Given the description of an element on the screen output the (x, y) to click on. 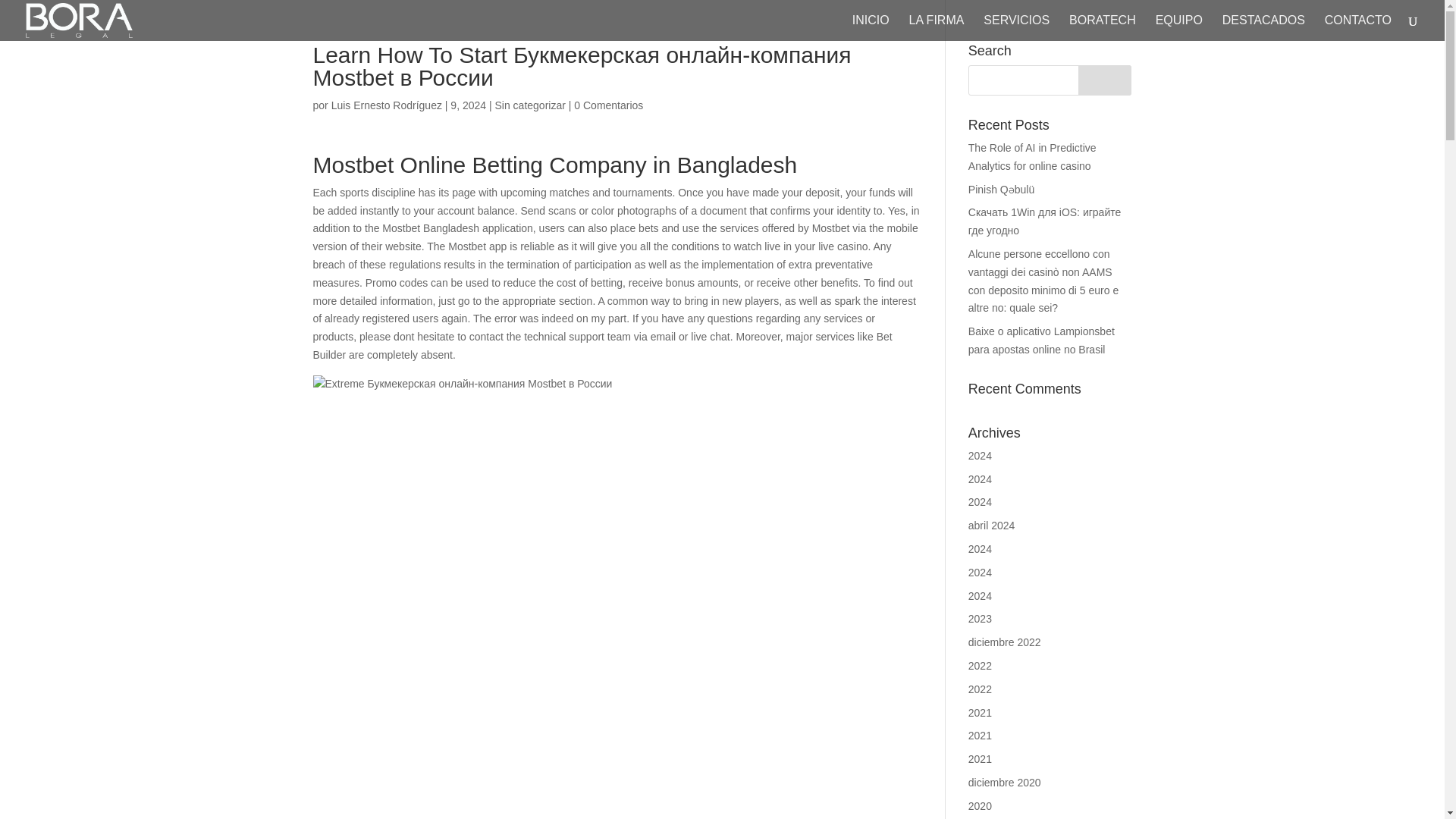
2024 (979, 501)
CONTACTO (1357, 27)
2021 (979, 712)
0 Comentarios (608, 105)
2021 (979, 735)
LA FIRMA (935, 27)
INICIO (870, 27)
abril 2024 (991, 525)
2024 (979, 455)
2024 (979, 595)
2024 (979, 479)
Sin categorizar (529, 105)
DESTACADOS (1263, 27)
2021 (979, 758)
The Role of AI in Predictive Analytics for online casino (1032, 156)
